Given the description of an element on the screen output the (x, y) to click on. 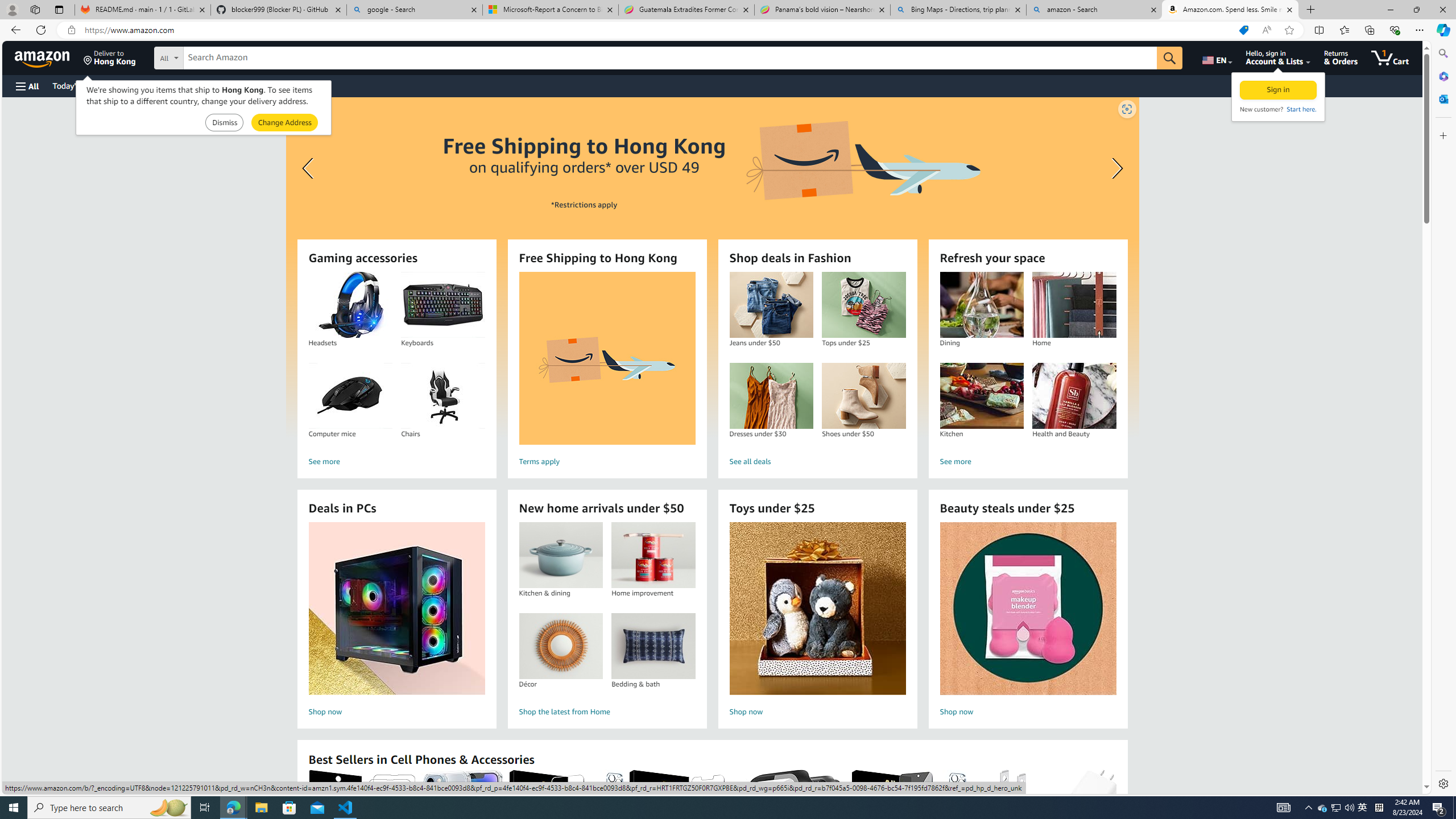
Free Shipping to Hong Kong (606, 357)
amazon - Search (1094, 9)
Hello, sign in Account & Lists (1278, 57)
Free Shipping to Hong Kong Terms apply (606, 370)
Shop the latest from Home (606, 712)
Go (1169, 57)
